Given the description of an element on the screen output the (x, y) to click on. 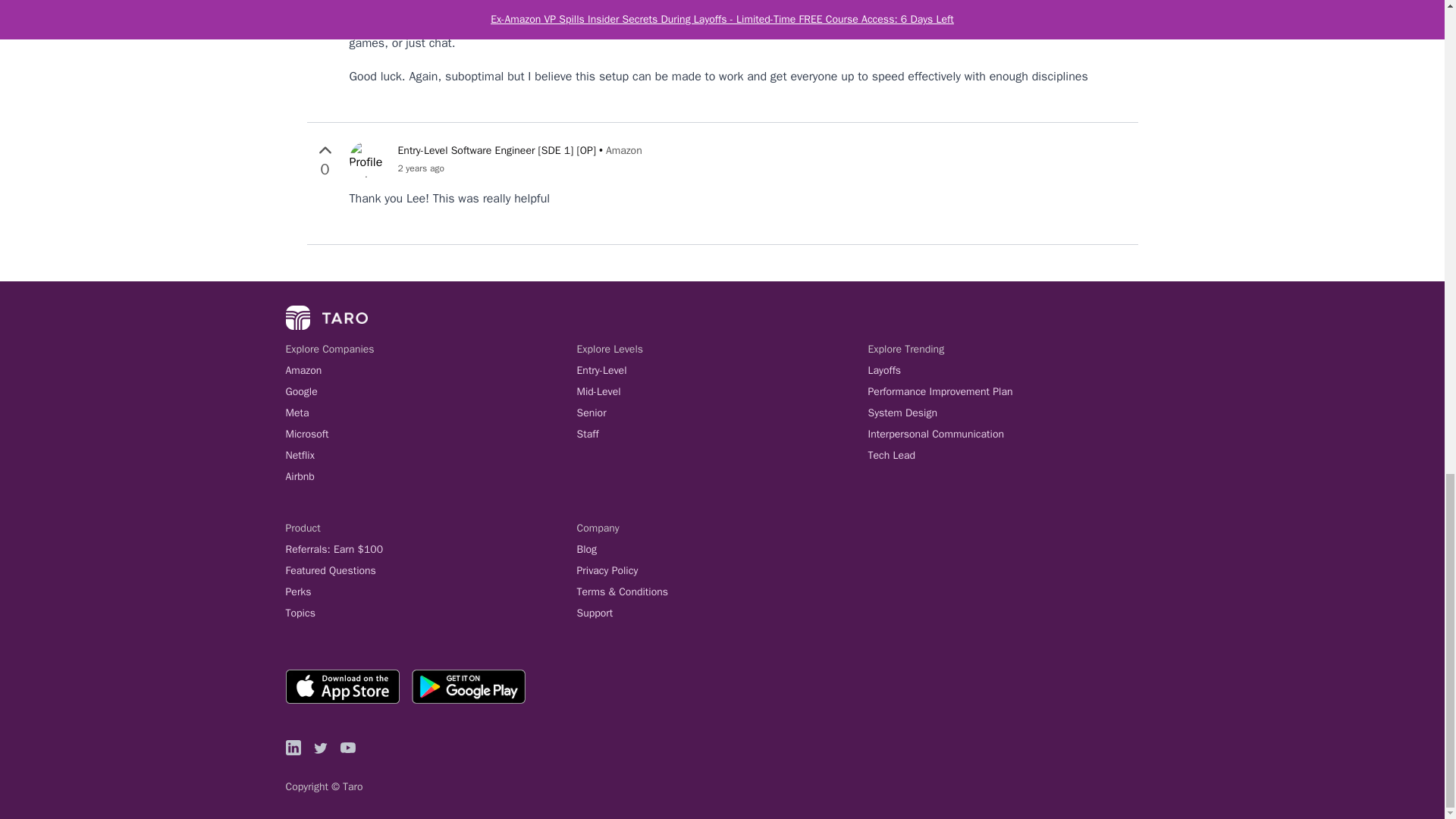
Tech Lead (1012, 455)
Airbnb (430, 476)
Perks (430, 591)
Amazon (430, 370)
System Design (1012, 412)
Layoffs (1012, 370)
Netflix (430, 455)
Thursday October 6, 6:30am (519, 168)
Google (430, 391)
Staff (721, 434)
Mid-Level (721, 391)
Meta (430, 412)
Blog (721, 549)
Featured Questions (430, 570)
Entry-Level (721, 370)
